Given the description of an element on the screen output the (x, y) to click on. 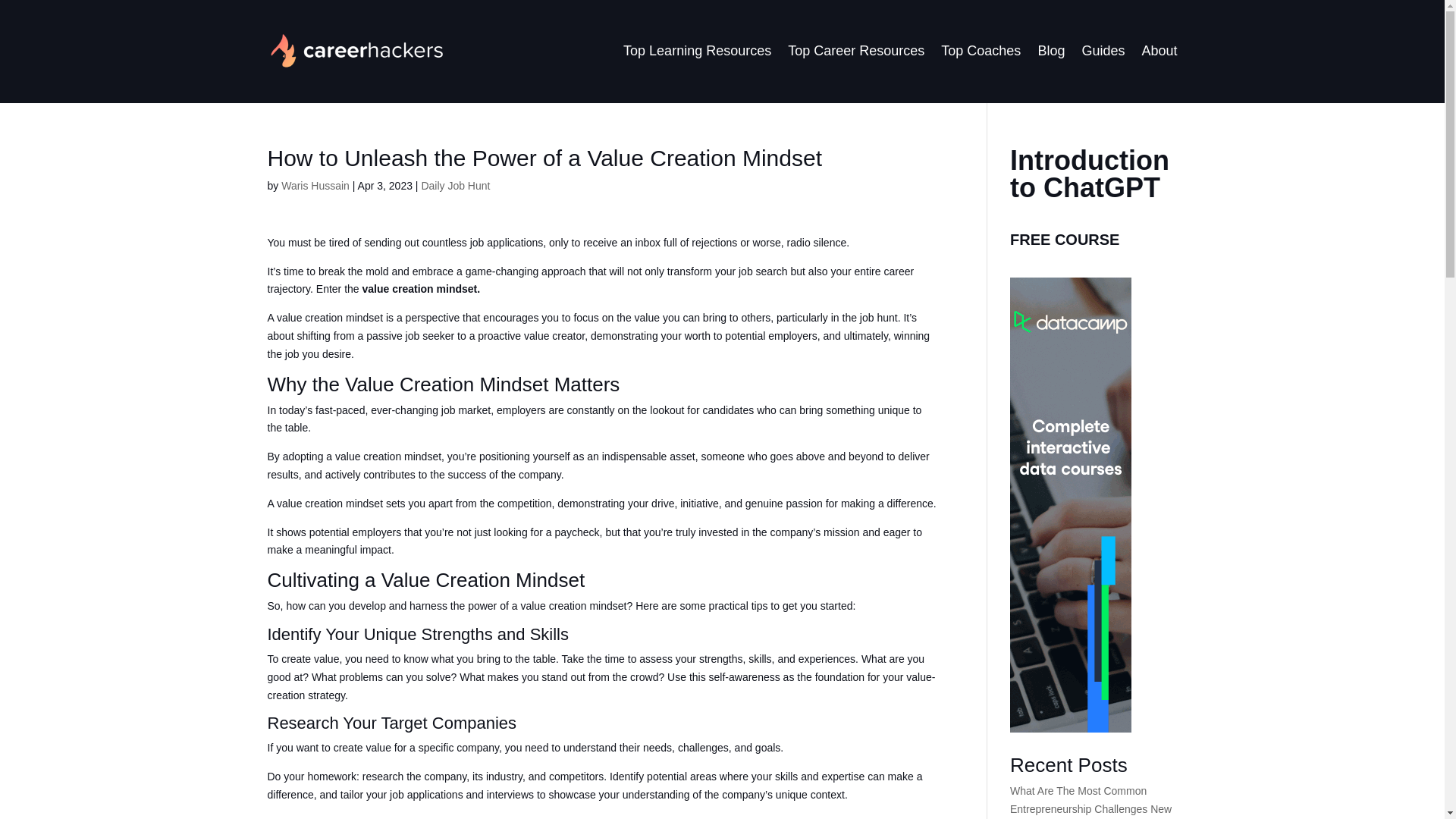
this issue of DJH (502, 818)
Daily Job Hunt (454, 185)
Posts by Waris Hussain (315, 185)
Top Career Resources (855, 50)
Top Coaches (980, 50)
Waris Hussain (315, 185)
Top Learning Resources (697, 50)
